Given the description of an element on the screen output the (x, y) to click on. 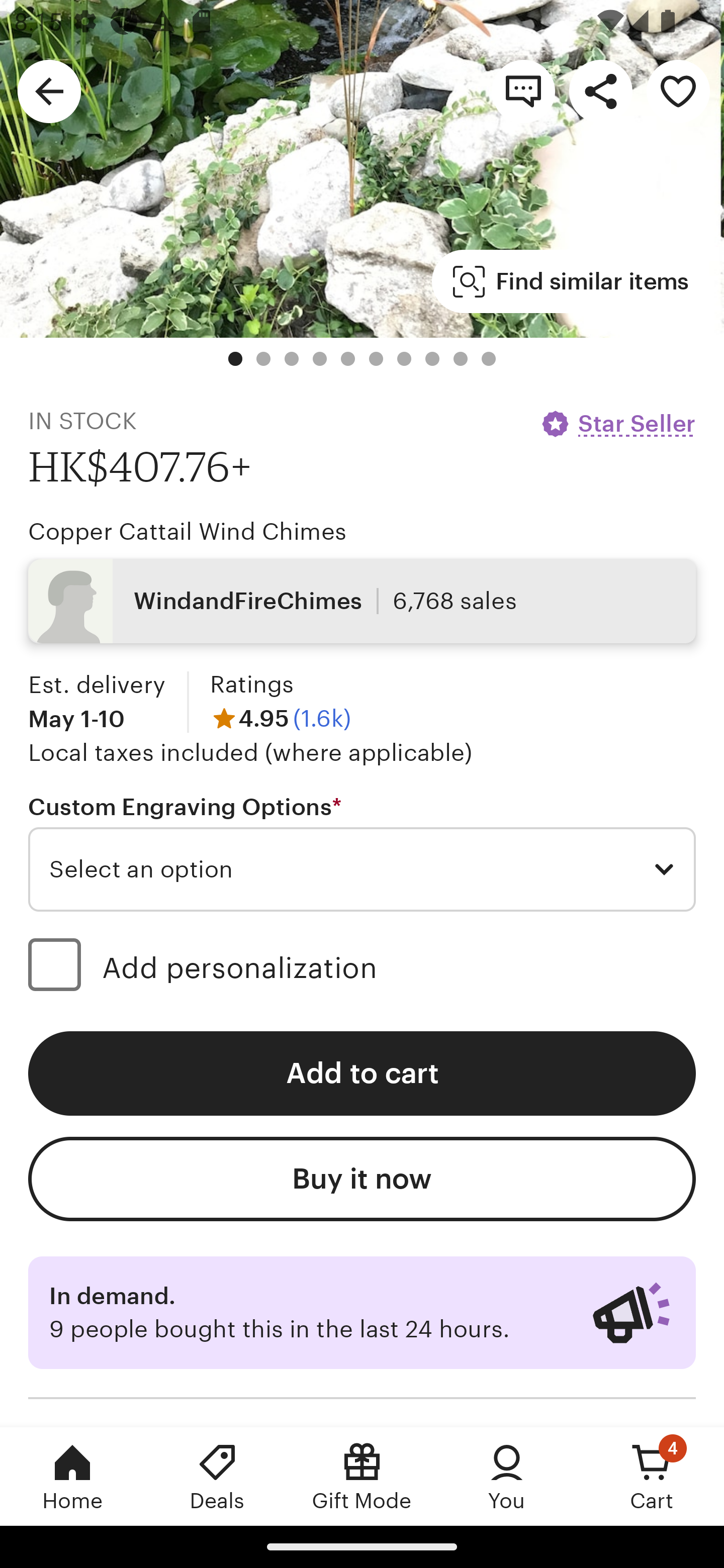
Navigate up (49, 90)
Contact shop (523, 90)
Share (600, 90)
Find similar items (571, 281)
Star Seller (617, 423)
Copper Cattail Wind Chimes (187, 531)
WindandFireChimes 6,768 sales (361, 600)
Ratings (251, 684)
4.95 (1.6k) (280, 718)
Select an option (361, 869)
Add personalization (optional) Add personalization (362, 967)
Add to cart (361, 1073)
Buy it now (361, 1178)
Deals (216, 1475)
Gift Mode (361, 1475)
You (506, 1475)
Cart, 4 new notifications Cart (651, 1475)
